Given the description of an element on the screen output the (x, y) to click on. 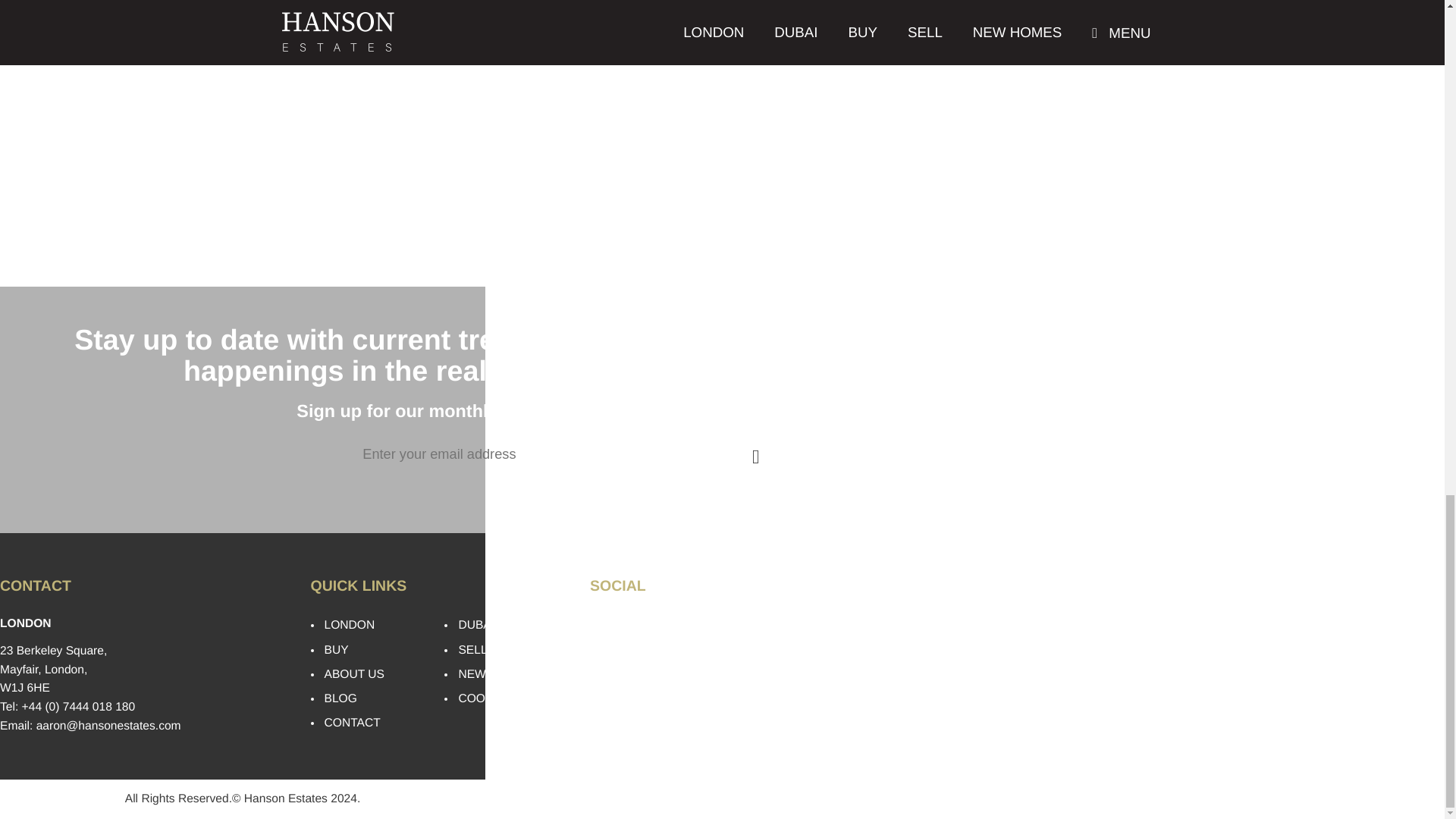
DUBAI (476, 625)
NEW HOMES (495, 674)
BLOG (340, 698)
COOKIE POLICY (504, 698)
LONDON (349, 625)
CONNECT WITH US (655, 678)
SELL (472, 649)
ABOUT US (354, 674)
CONTACT (352, 722)
FOLLOW US (634, 653)
WATCH OUR VIDEOS (659, 704)
BUY (336, 649)
LIKE US (622, 626)
